Given the description of an element on the screen output the (x, y) to click on. 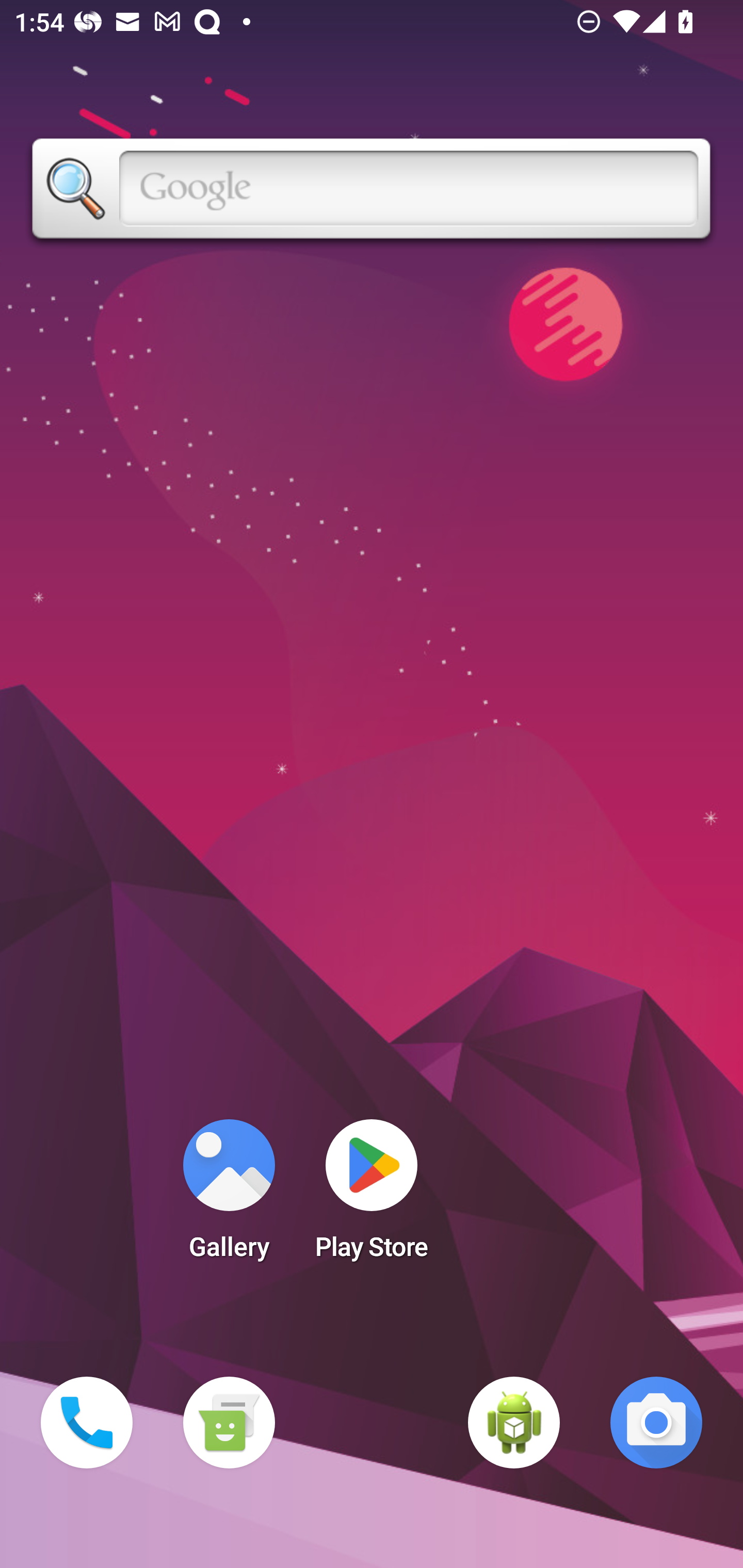
Gallery (228, 1195)
Play Store (371, 1195)
Phone (86, 1422)
Messaging (228, 1422)
WebView Browser Tester (513, 1422)
Camera (656, 1422)
